Given the description of an element on the screen output the (x, y) to click on. 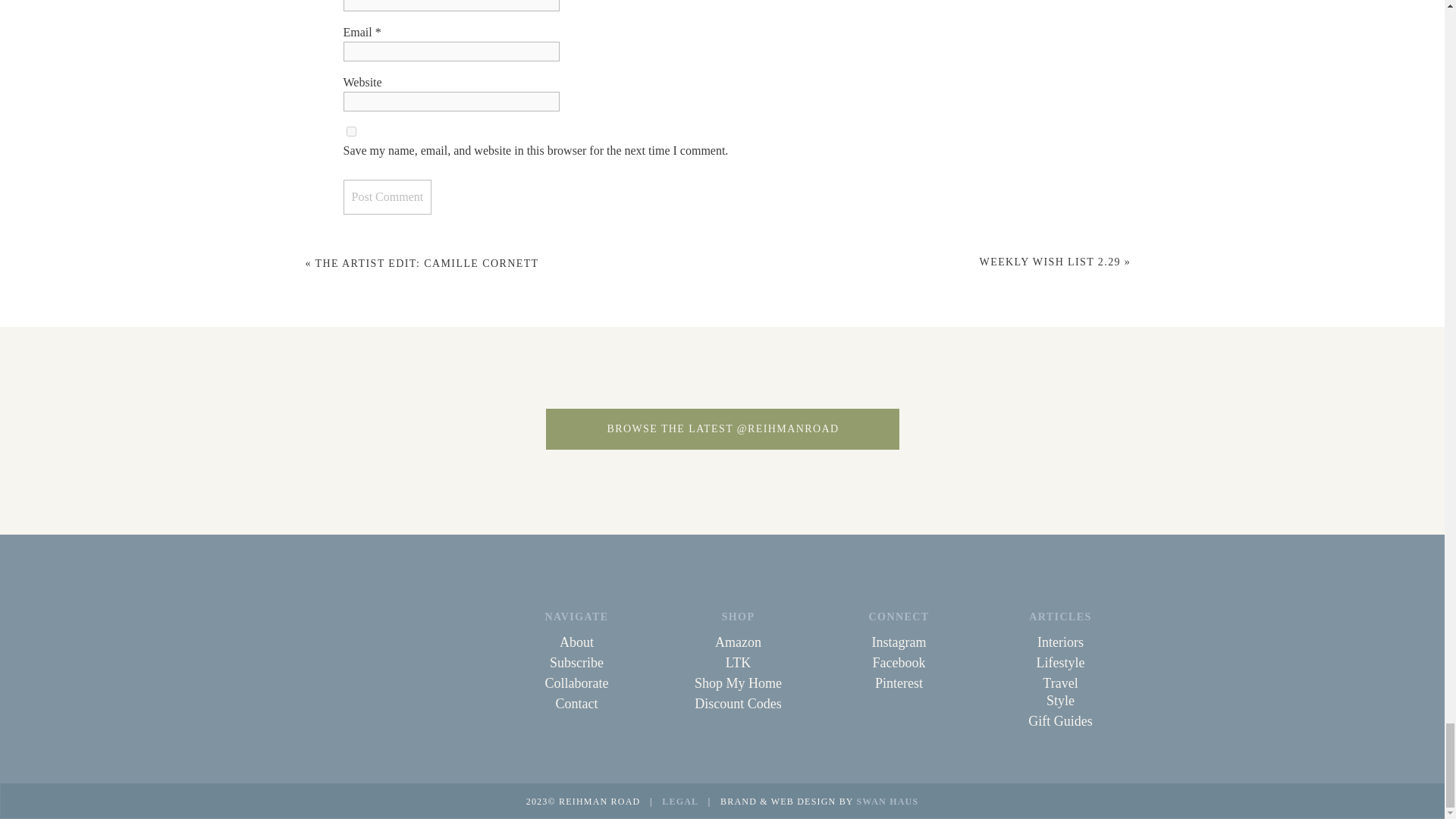
abstract art (101, 428)
image5 (928, 428)
cane treasure boxes (515, 428)
maple branch (1135, 428)
dahlia 2 (722, 428)
yes (350, 131)
builtins (308, 428)
Post Comment (386, 196)
